Given the description of an element on the screen output the (x, y) to click on. 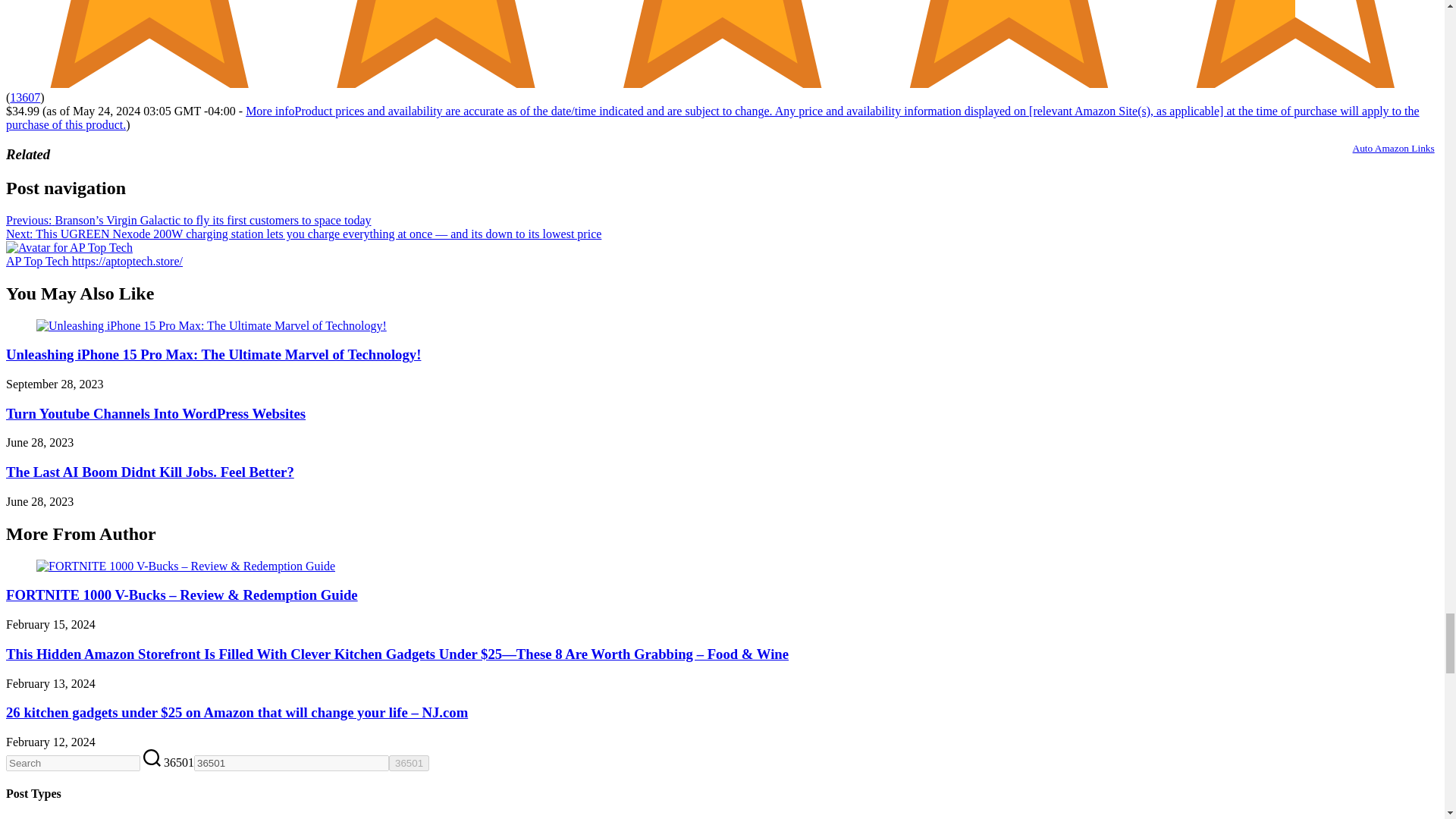
36501 (290, 763)
36501 (408, 763)
36501 (408, 763)
36501 (290, 763)
